Given the description of an element on the screen output the (x, y) to click on. 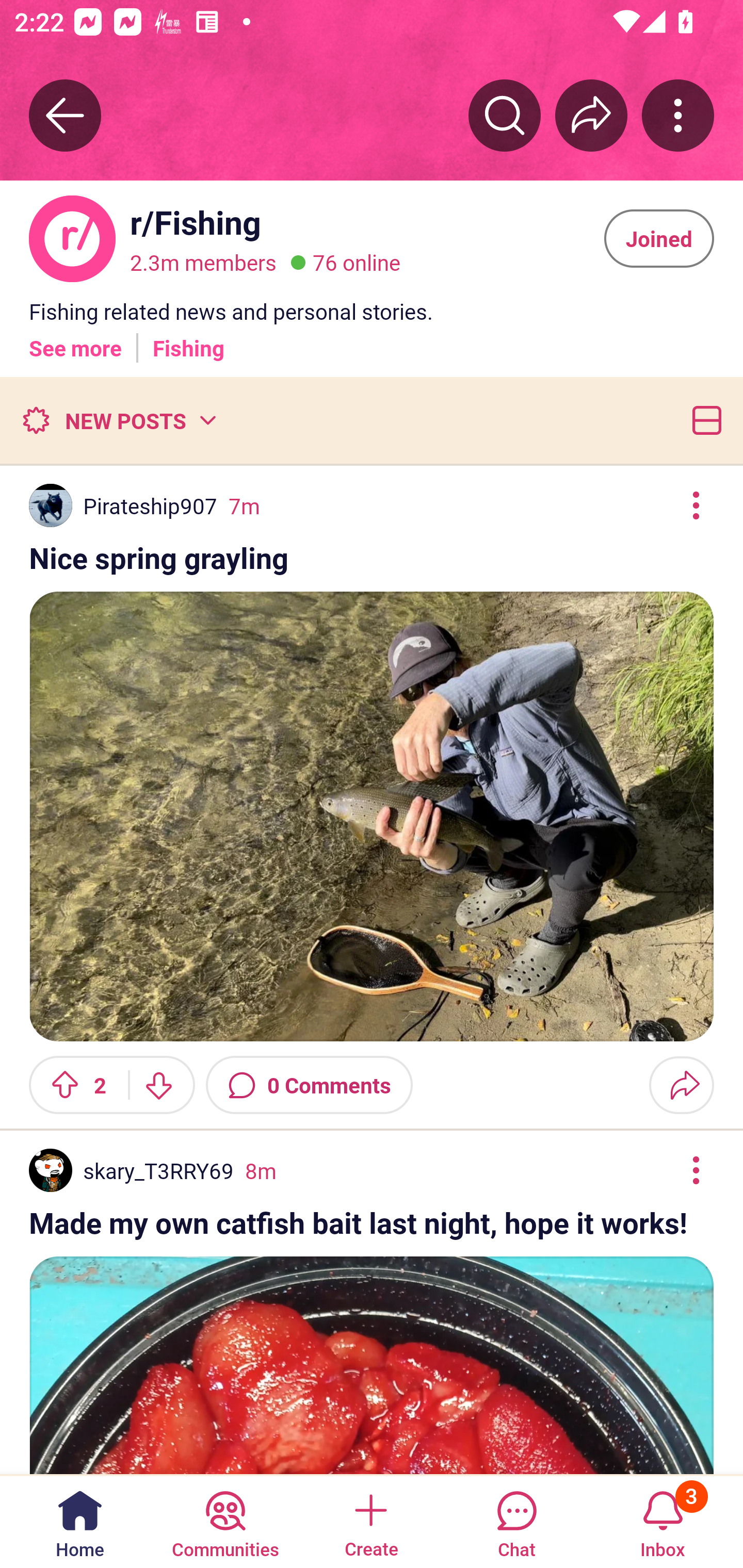
Back (64, 115)
Search r/﻿Fishing (504, 115)
Share r/﻿Fishing (591, 115)
More community actions (677, 115)
New posts NEW POSTS (118, 420)
Card (703, 420)
Home (80, 1520)
Communities (225, 1520)
Create a post Create (370, 1520)
Chat (516, 1520)
Inbox, has 3 notifications 3 Inbox (662, 1520)
